Given the description of an element on the screen output the (x, y) to click on. 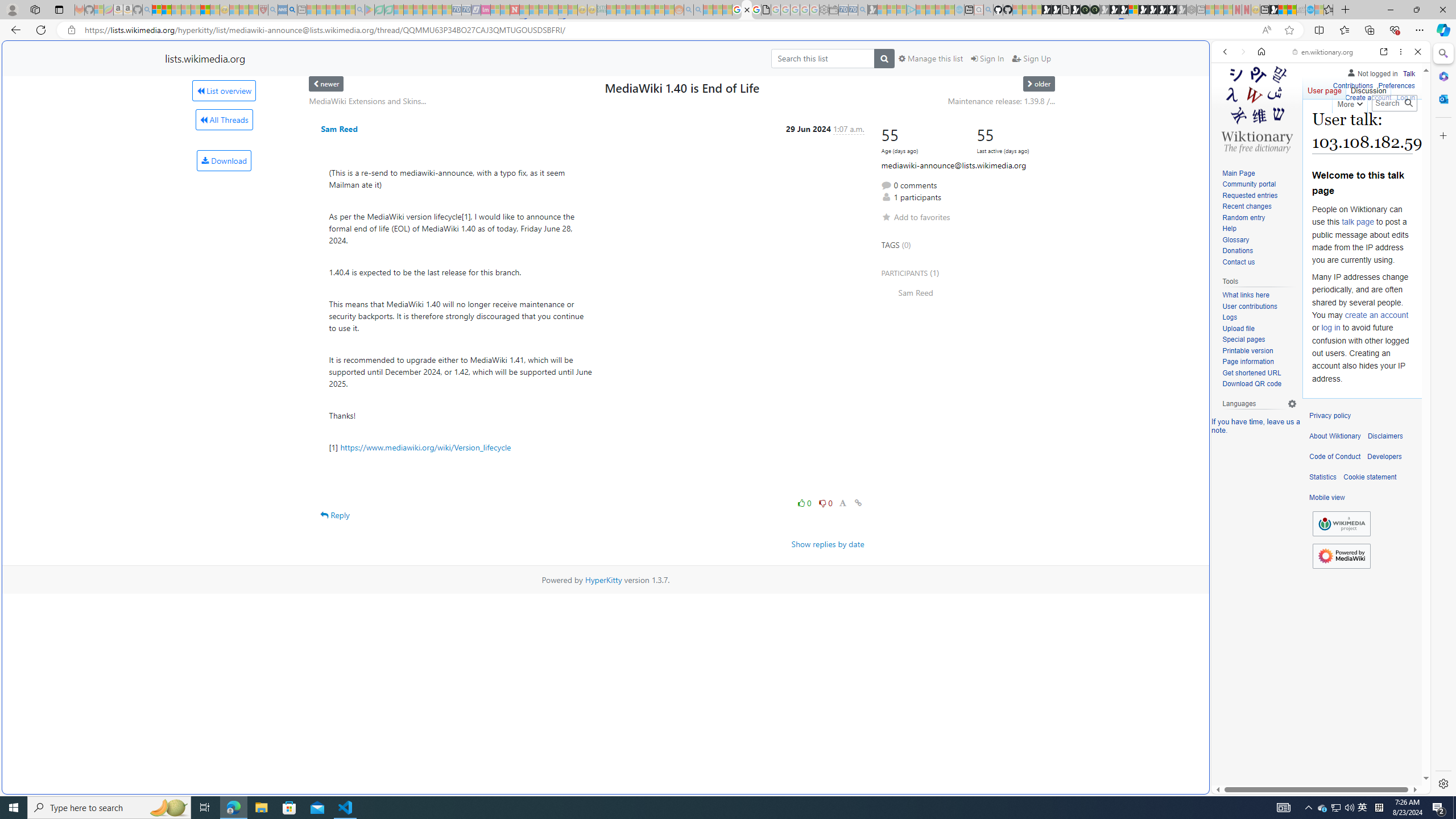
Bing Real Estate - Home sales and rental listings - Sleeping (862, 9)
create an account (1376, 314)
Requested entries (1259, 196)
Special pages (1243, 339)
Glossary (1259, 240)
MSNBC - MSN - Sleeping (611, 9)
Page information (1259, 361)
Talk (1408, 73)
Local - MSN - Sleeping (253, 9)
Developers (1384, 456)
Search the web (1326, 78)
